Given the description of an element on the screen output the (x, y) to click on. 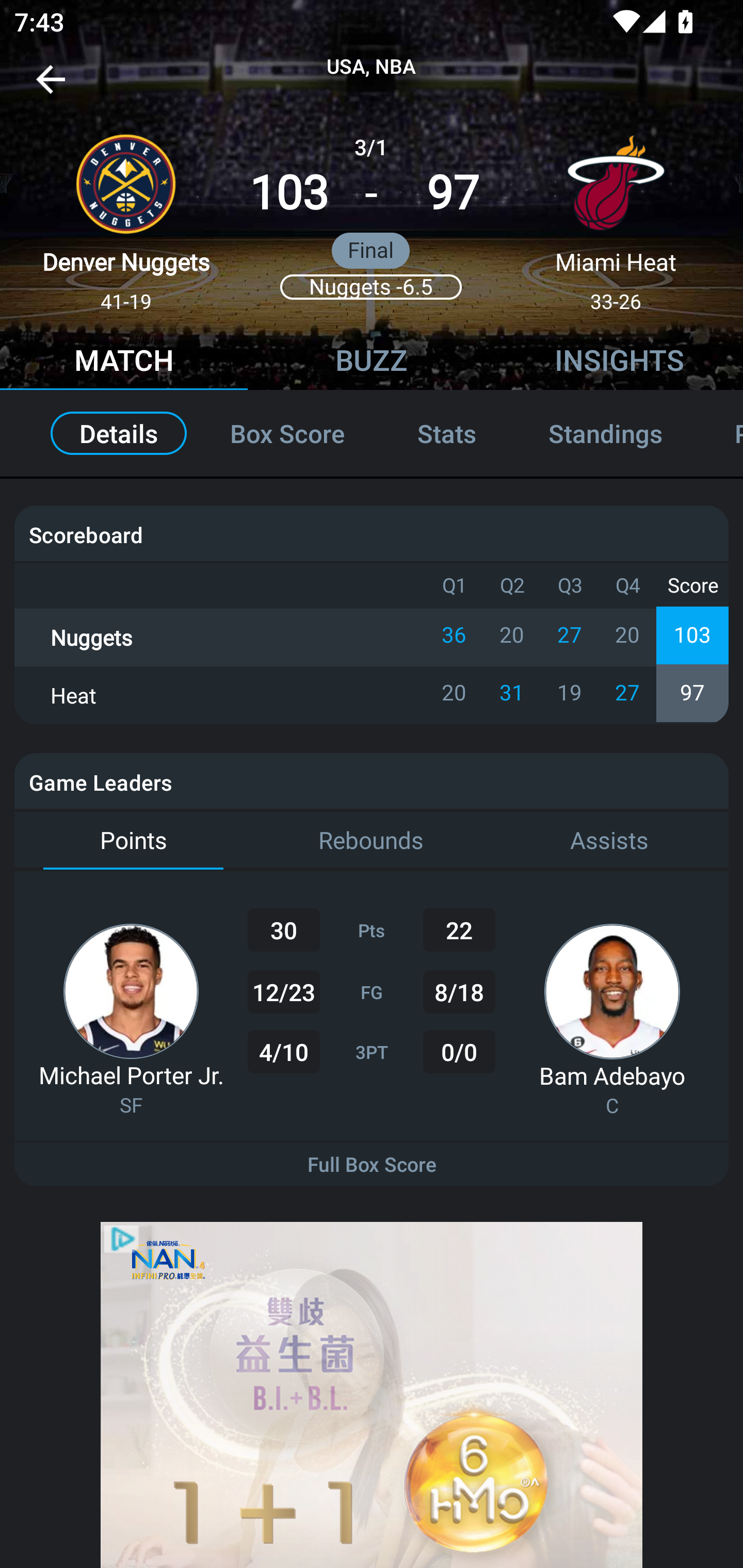
Navigate up (50, 86)
USA, NBA (371, 66)
Denver Nuggets 41-19 (126, 214)
Miami Heat 33-26 (616, 214)
103 (288, 192)
97 (453, 192)
MATCH (123, 362)
BUZZ (371, 362)
INSIGHTS (619, 362)
Box Score (287, 433)
Stats (446, 433)
Standings (605, 433)
Rebounds (371, 841)
Assists (609, 841)
Michael Porter Jr. (131, 1074)
Bam Adebayo (611, 1075)
Full Box Score (371, 1164)
